Given the description of an element on the screen output the (x, y) to click on. 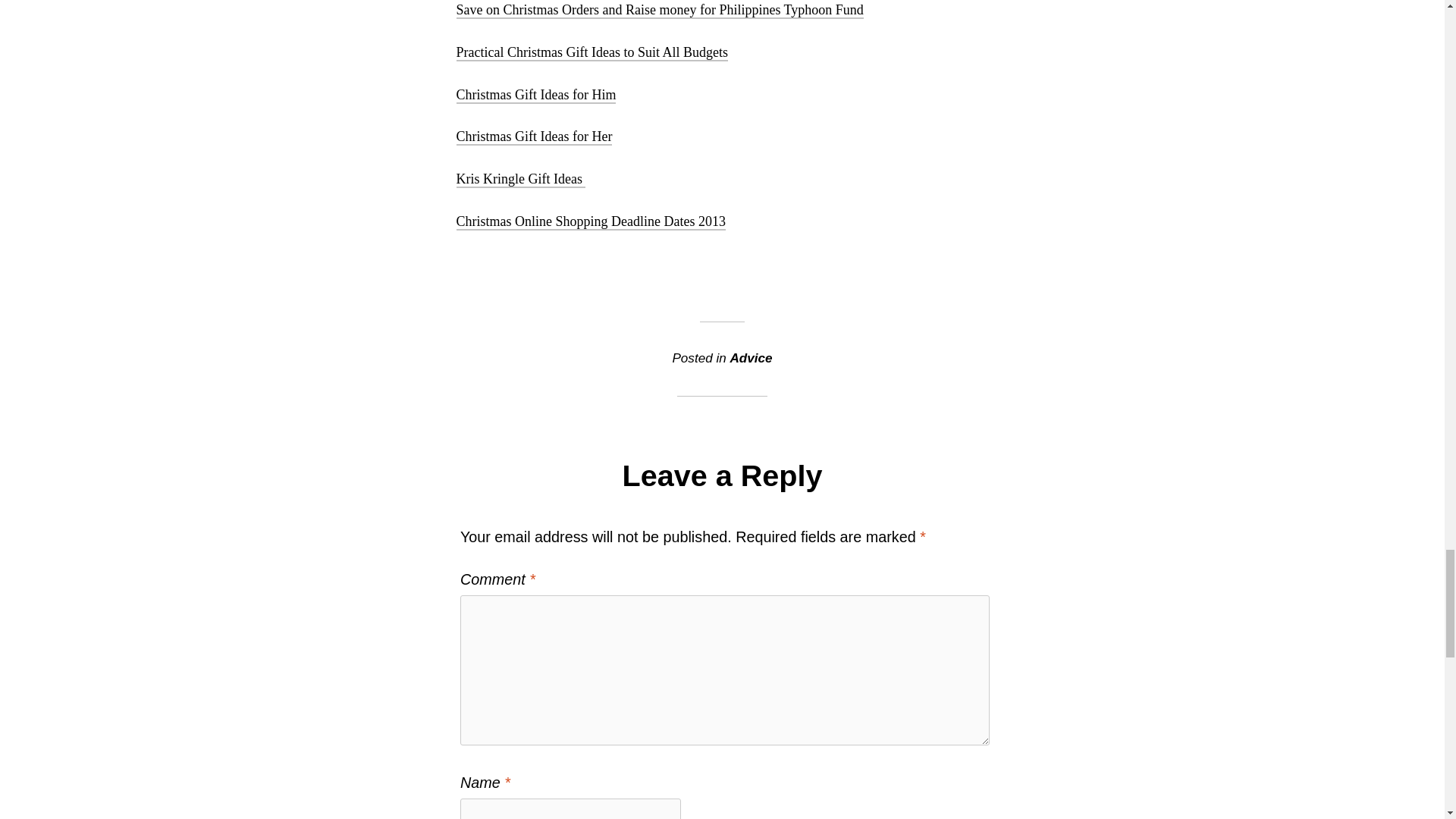
Christmas Gift Ideas for Him (536, 95)
Practical Christmas Gift Ideas to Suit All Budgets (592, 53)
